Given the description of an element on the screen output the (x, y) to click on. 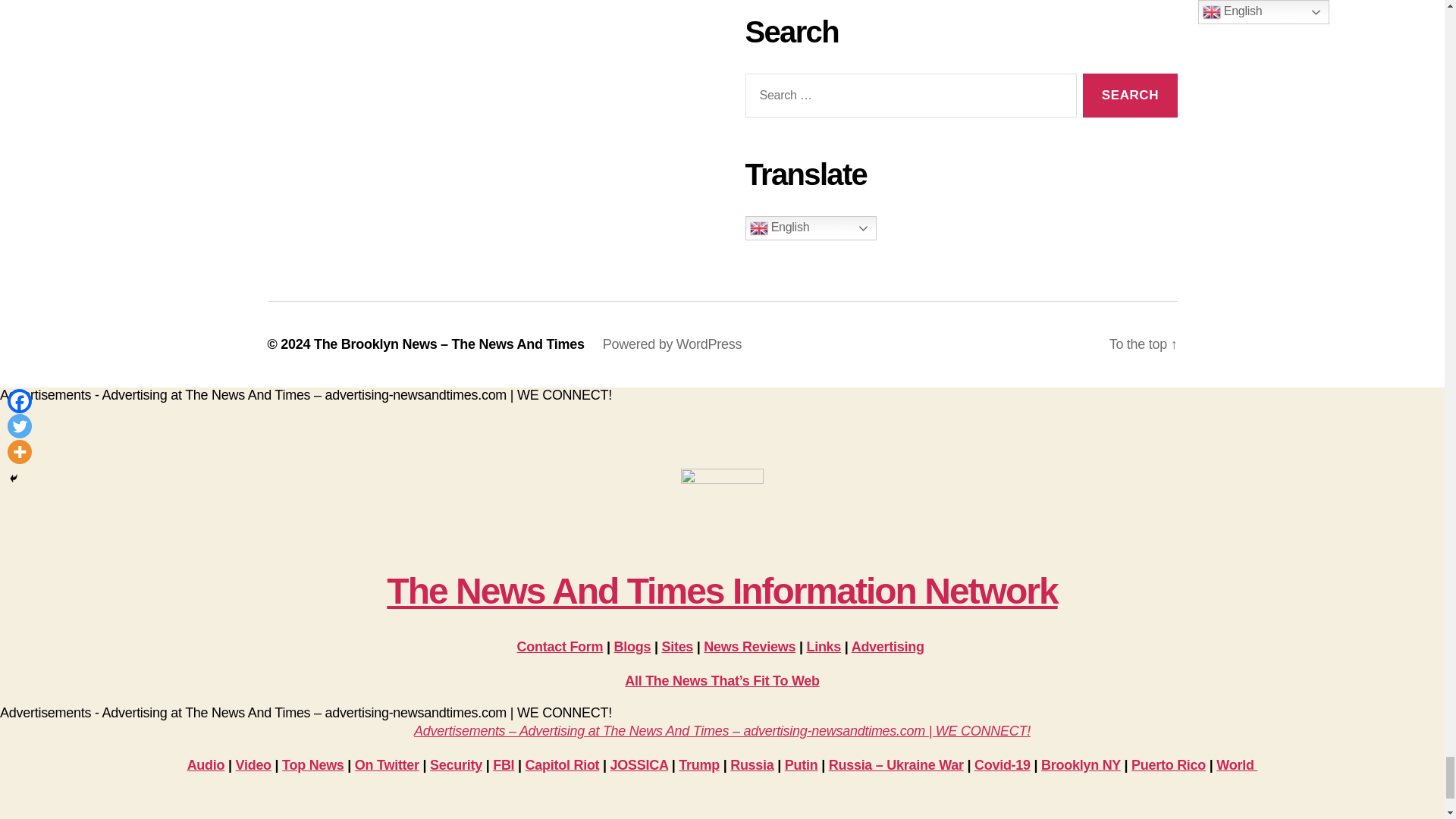
Search (1129, 95)
Search (1129, 95)
